Given the description of an element on the screen output the (x, y) to click on. 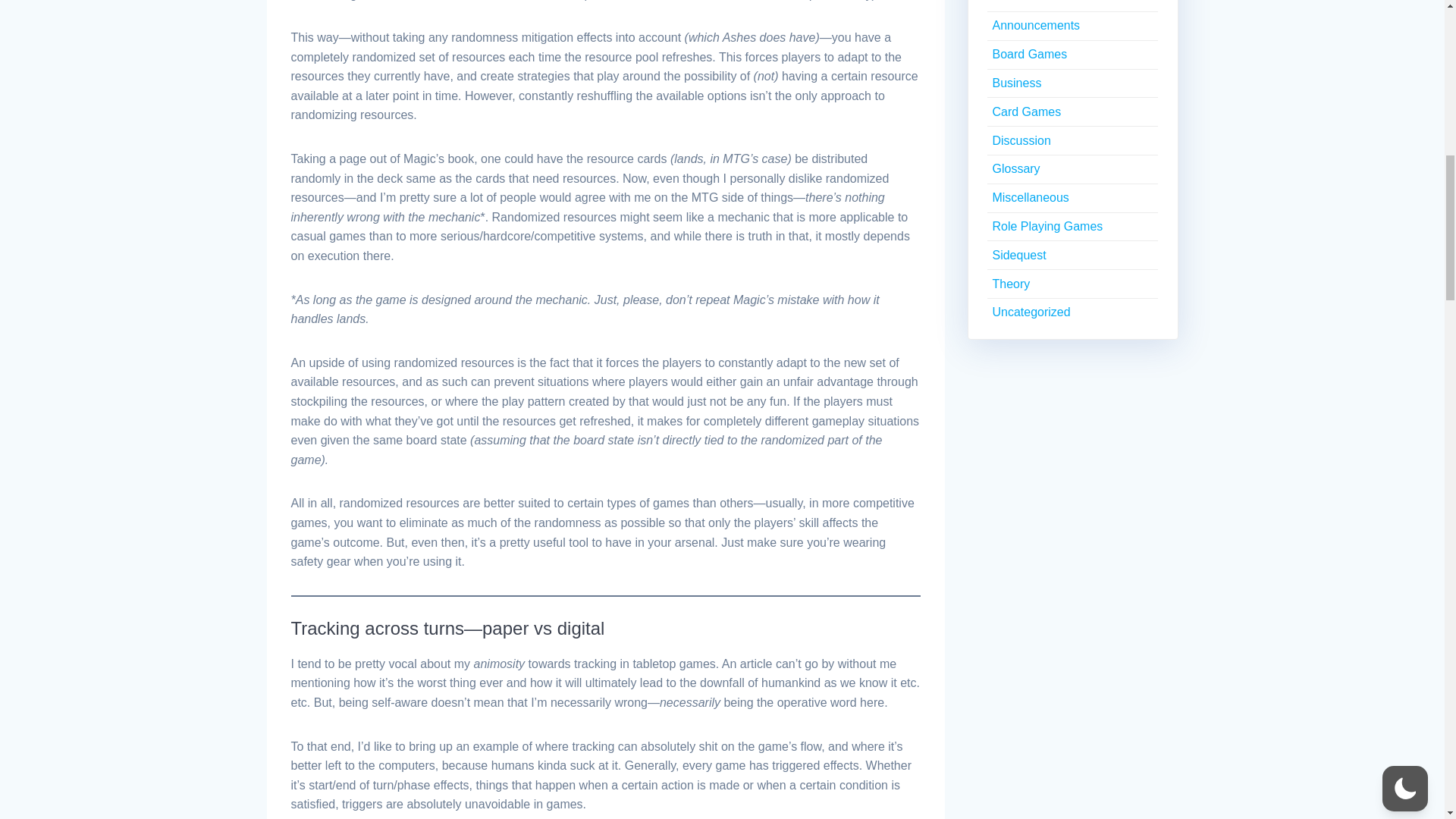
Glossary (1015, 168)
Uncategorized (1030, 311)
Theory (1010, 283)
Business (1016, 82)
Miscellaneous (1029, 196)
Role Playing Games (1046, 226)
Announcements (1035, 24)
Card Games (1026, 111)
Board Games (1029, 53)
Sidequest (1018, 254)
Discussion (1020, 140)
